Given the description of an element on the screen output the (x, y) to click on. 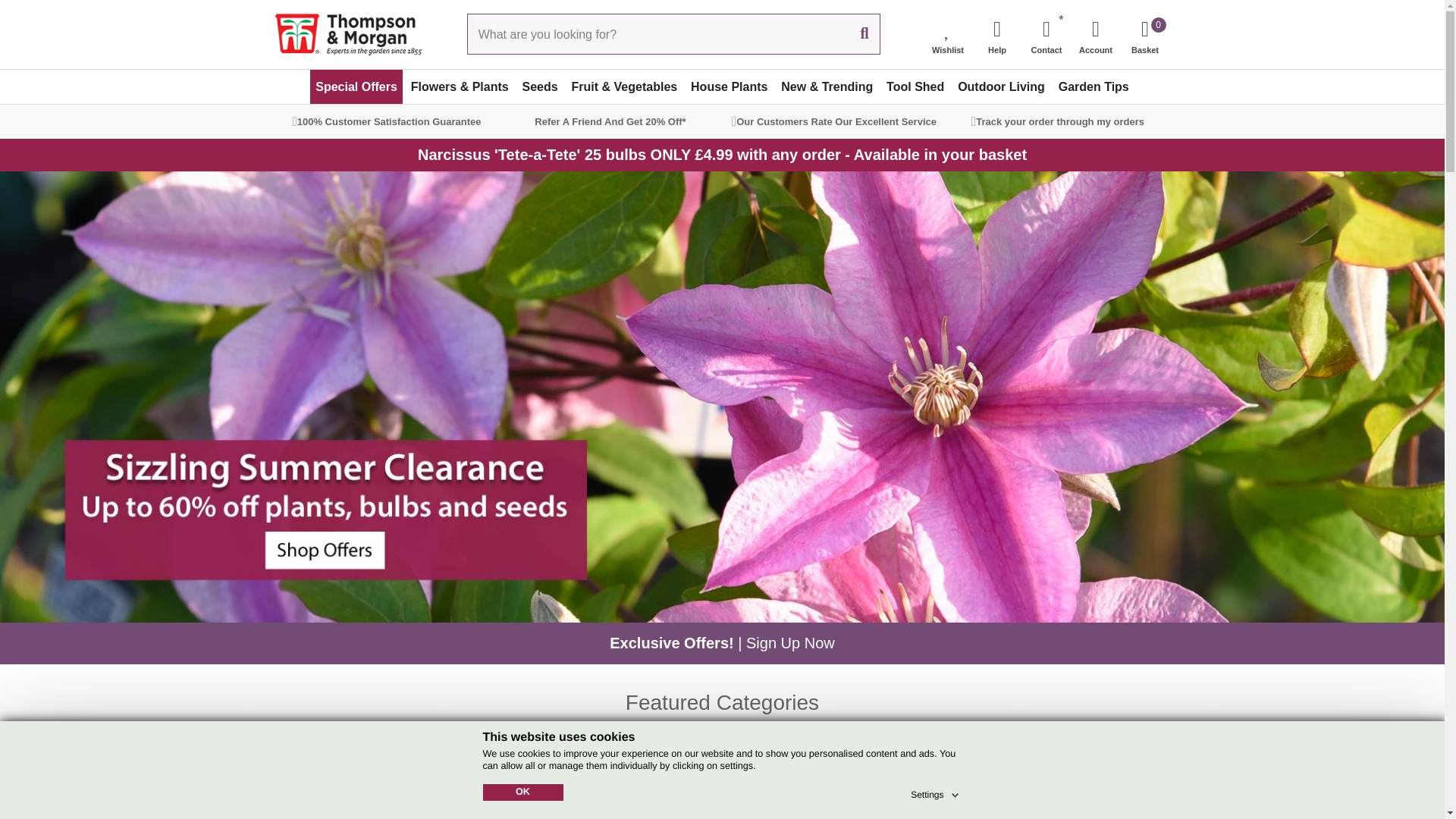
OK (521, 791)
Join (1083, 782)
Settings (935, 791)
